Given the description of an element on the screen output the (x, y) to click on. 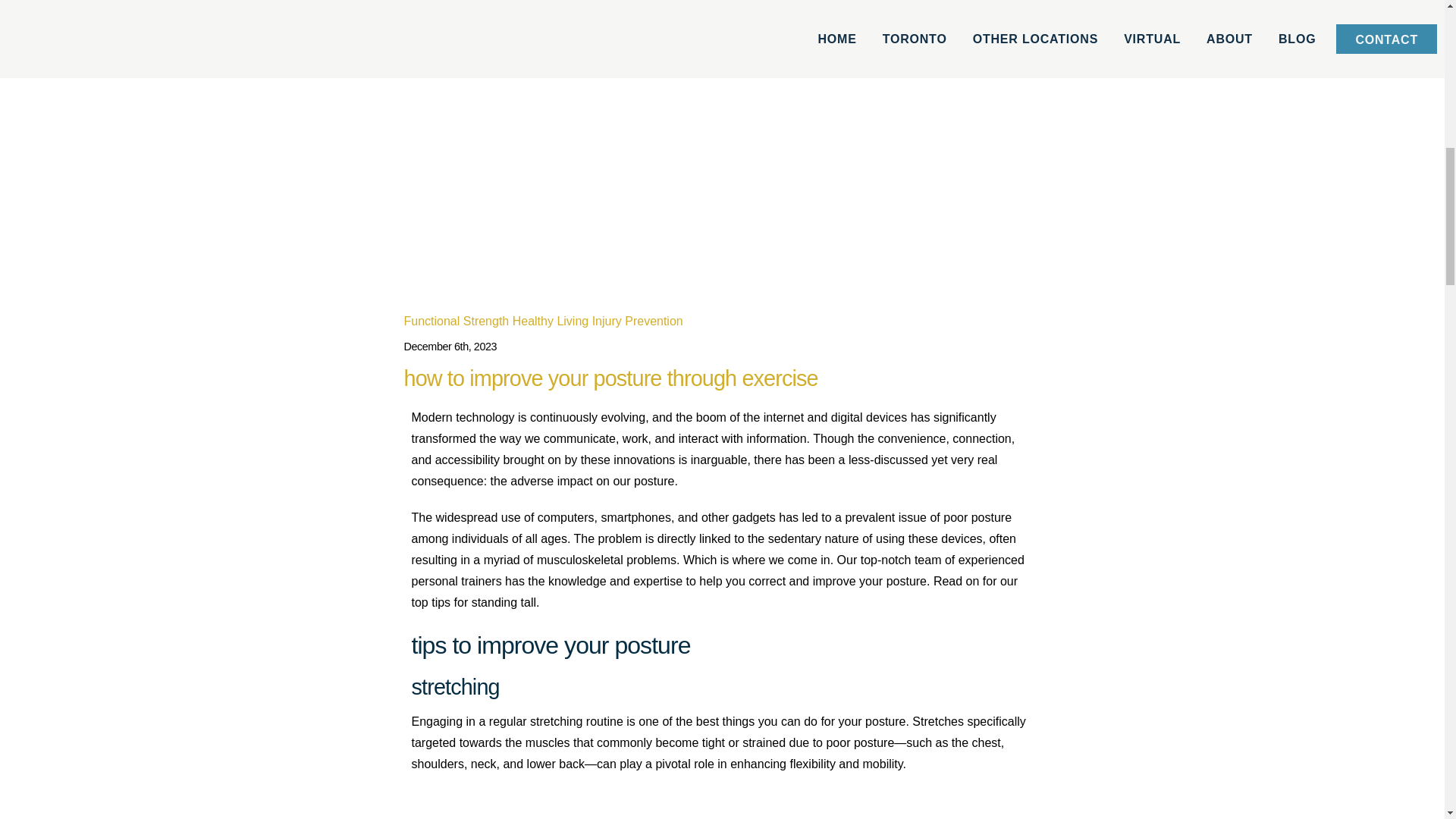
Functional Strength (455, 320)
Healthy Living (550, 320)
how to improve your posture through exercise (609, 378)
Injury Prevention (637, 320)
